Given the description of an element on the screen output the (x, y) to click on. 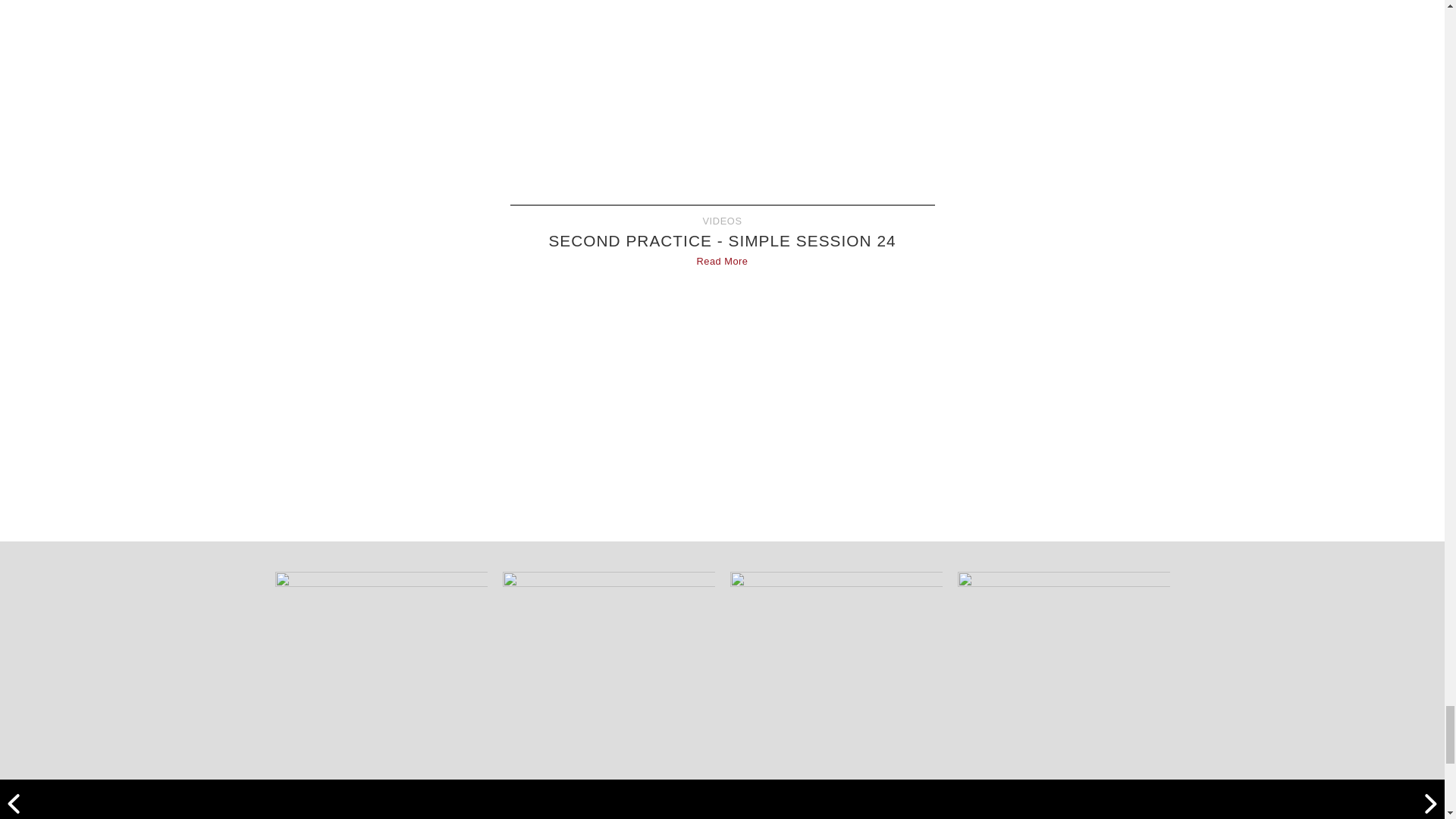
YouTube video player (721, 397)
Read More (722, 260)
YouTube video player (721, 90)
